Given the description of an element on the screen output the (x, y) to click on. 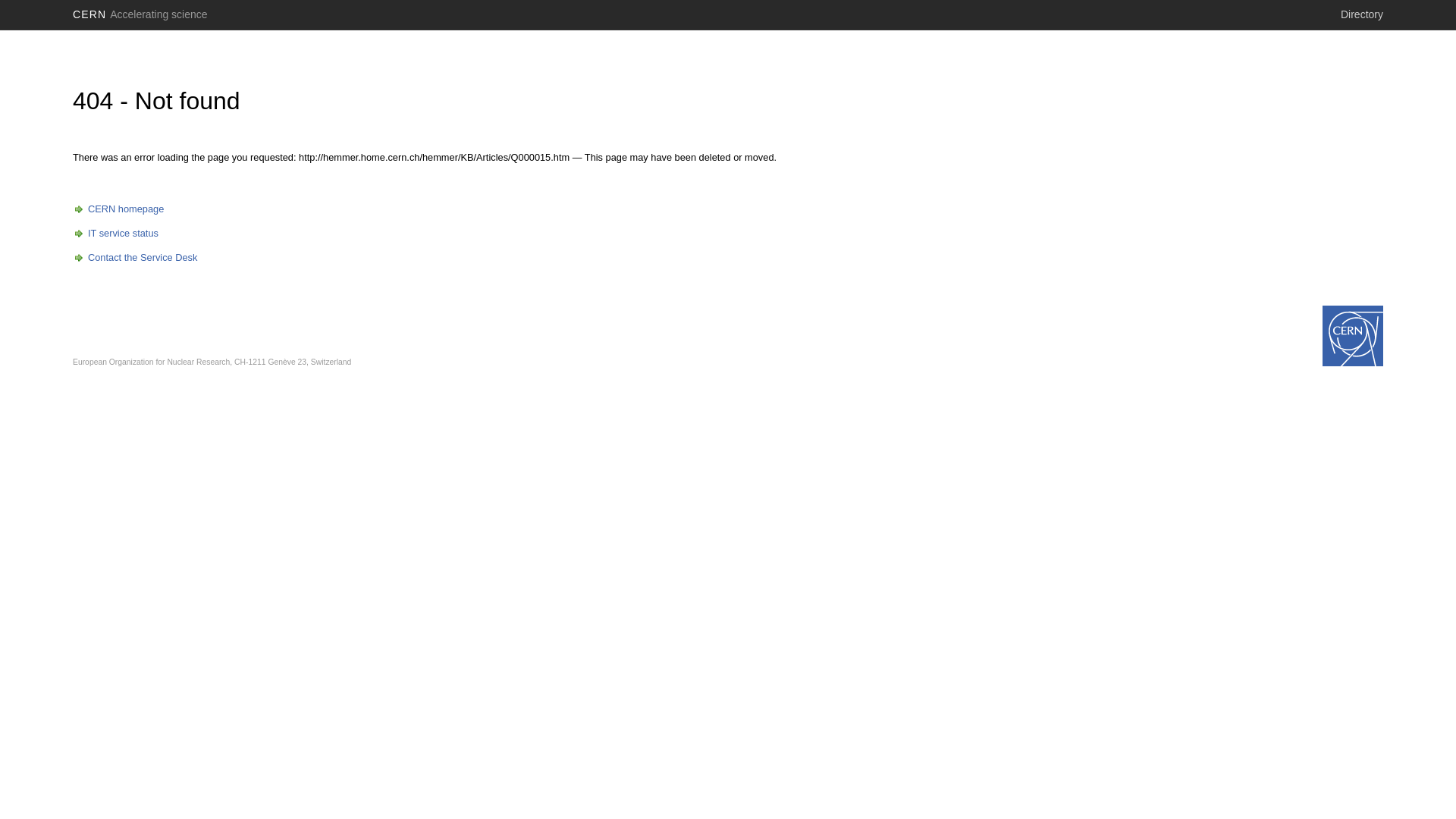
CERN homepage Element type: text (117, 208)
Directory Element type: text (1361, 14)
CERN Accelerating science Element type: text (139, 14)
home.cern Element type: hover (1352, 335)
IT service status Element type: text (115, 232)
Contact the Service Desk Element type: text (134, 257)
